Given the description of an element on the screen output the (x, y) to click on. 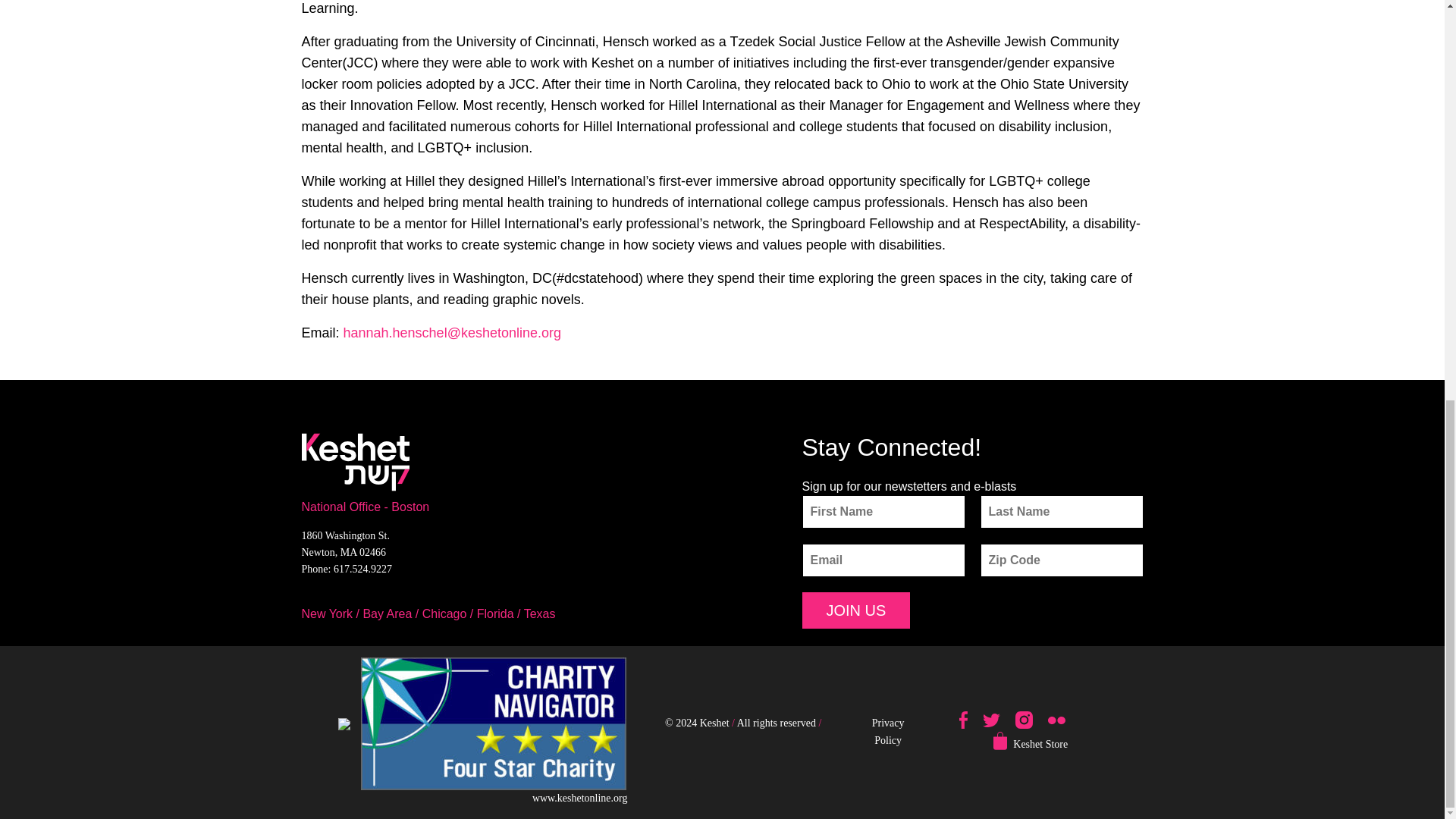
Privacy Policy (888, 731)
JOIN US (856, 610)
www.keshetonline.org (579, 797)
Keshet Store (1040, 744)
